Given the description of an element on the screen output the (x, y) to click on. 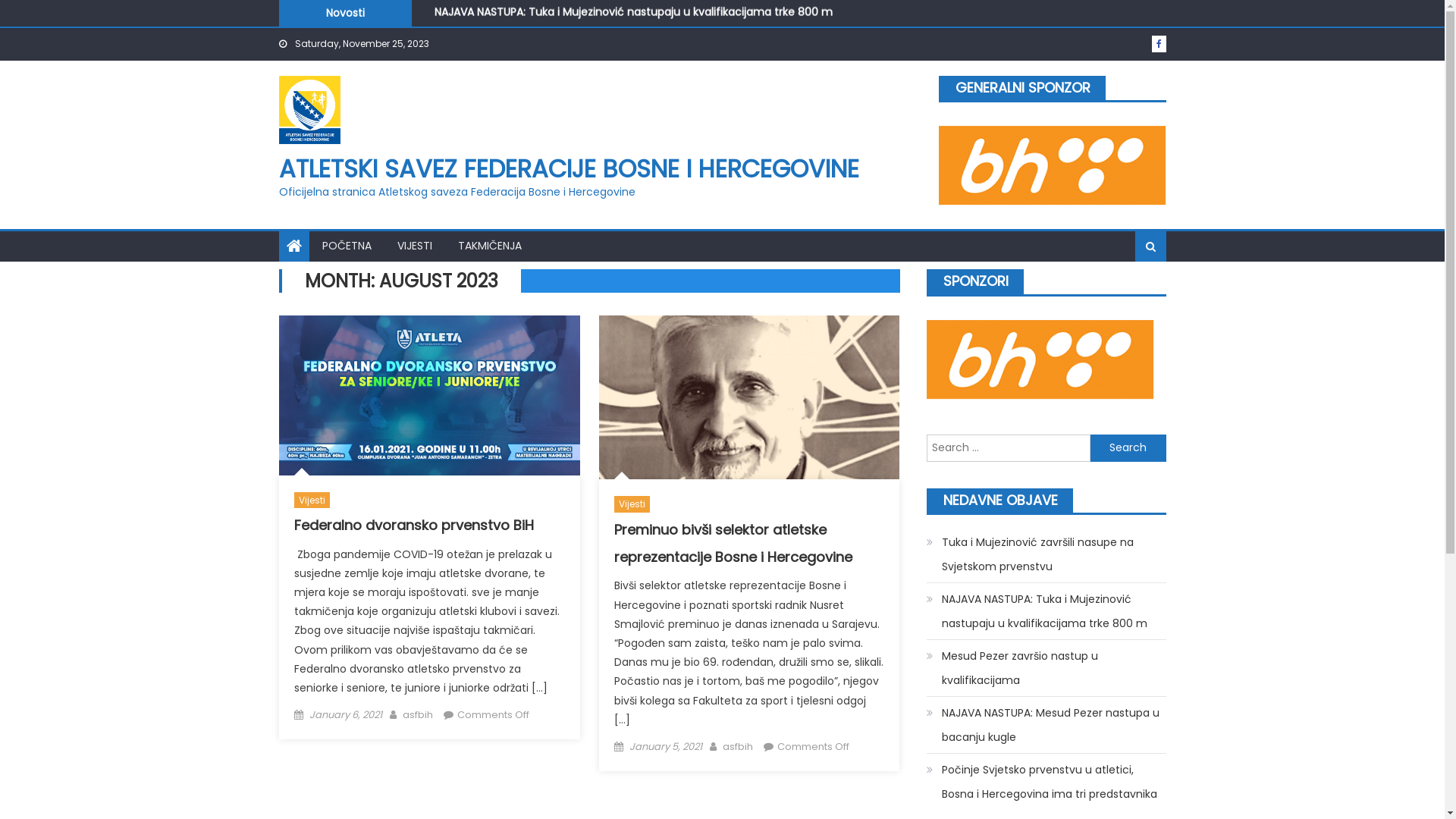
Search Element type: text (1128, 447)
NAJAVA NASTUPA: Mesud Pezer nastupa u bacanju kugle Element type: text (1046, 724)
Vijesti Element type: text (631, 503)
January 5, 2021 Element type: text (665, 746)
January 6, 2021 Element type: text (345, 714)
Vijesti Element type: text (311, 500)
asfbih Element type: text (417, 714)
VIJESTI Element type: text (413, 245)
Search Element type: text (1128, 295)
Federalno dvoransko prvenstvo BiH Element type: text (413, 524)
ATLETSKI SAVEZ FEDERACIJE BOSNE I HERCEGOVINE Element type: text (569, 168)
asfbih Element type: text (737, 746)
Federalno dvoransko prvenstvo BiH Element type: hover (429, 394)
